Given the description of an element on the screen output the (x, y) to click on. 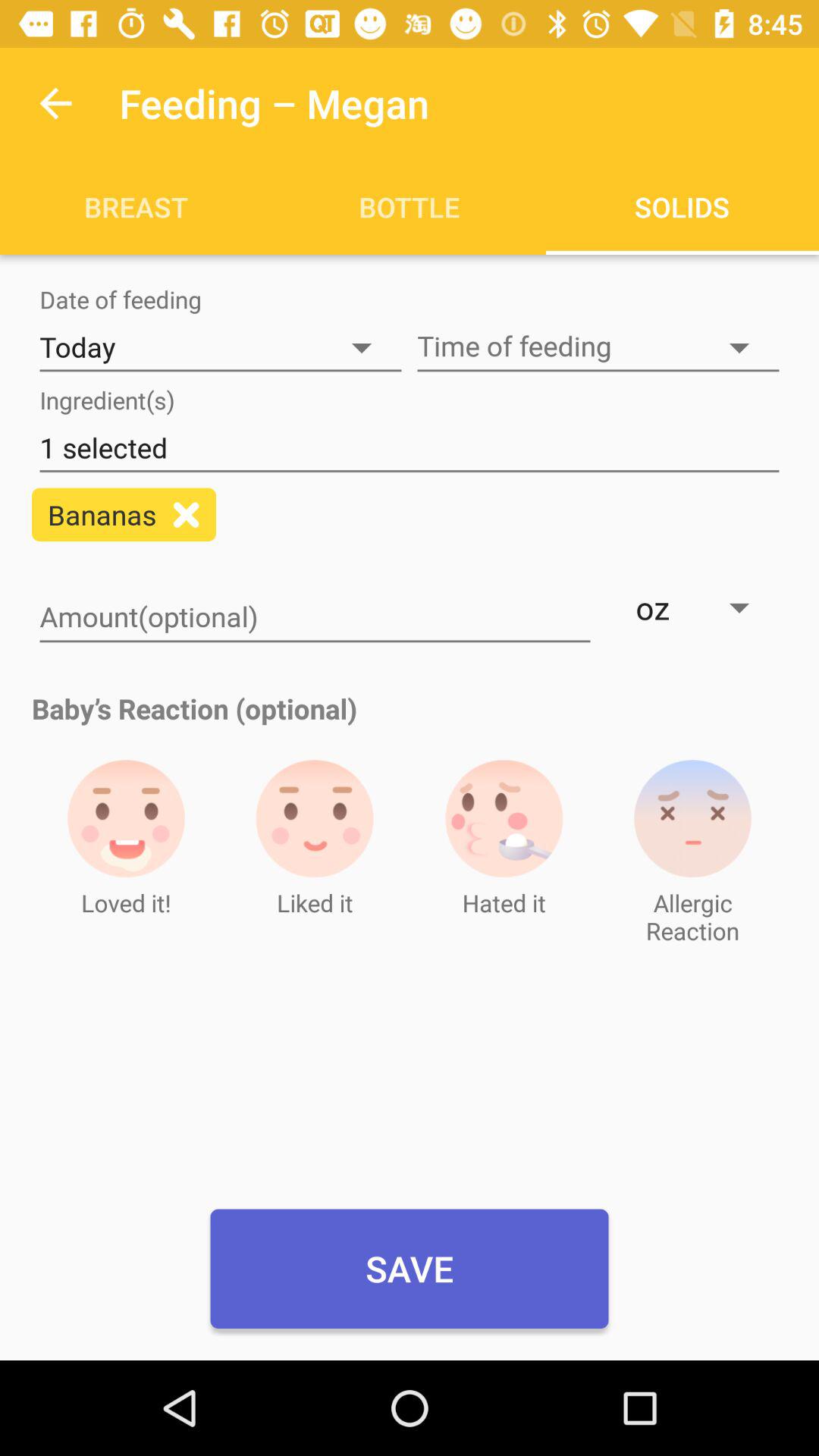
choose item above breast icon (55, 103)
